Given the description of an element on the screen output the (x, y) to click on. 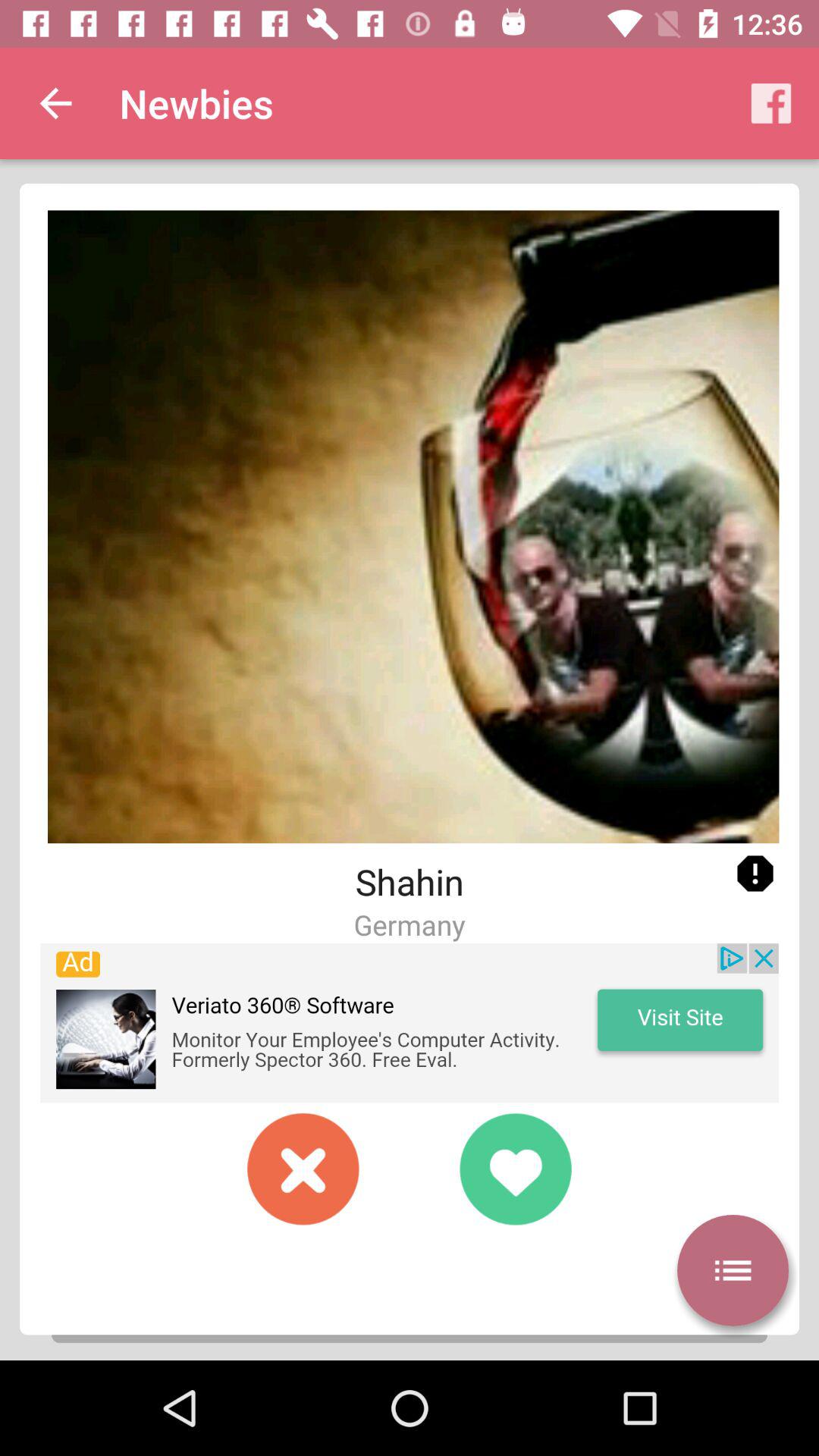
not like image (303, 1169)
